Given the description of an element on the screen output the (x, y) to click on. 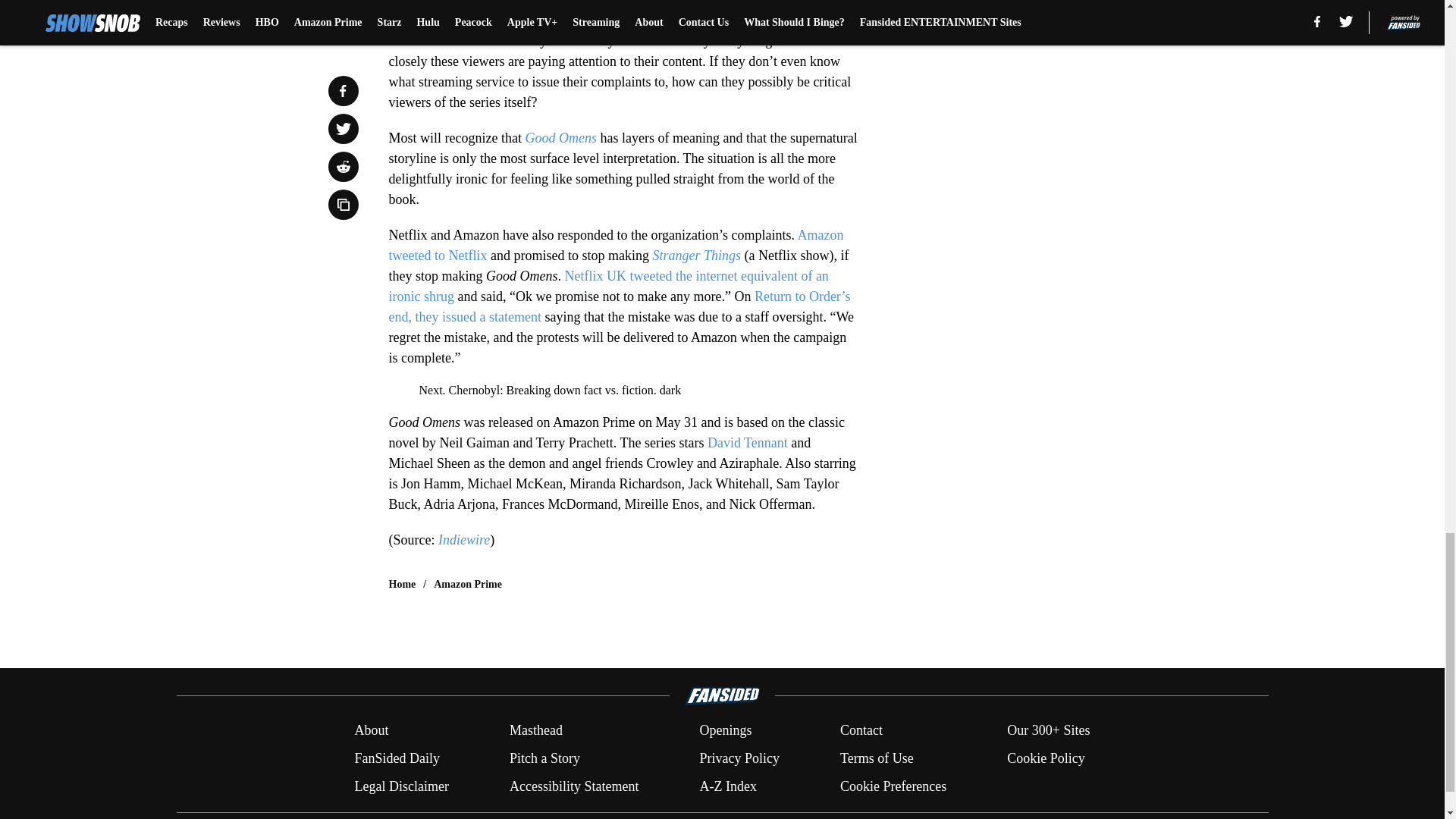
Amazon Prime (467, 584)
Home (401, 584)
Good Omens (560, 137)
David Tennant (747, 442)
Amazon tweeted to Netflix (615, 244)
Gaiman simply tweeted (453, 20)
Stranger Things (696, 255)
Indiewire (463, 539)
